Given the description of an element on the screen output the (x, y) to click on. 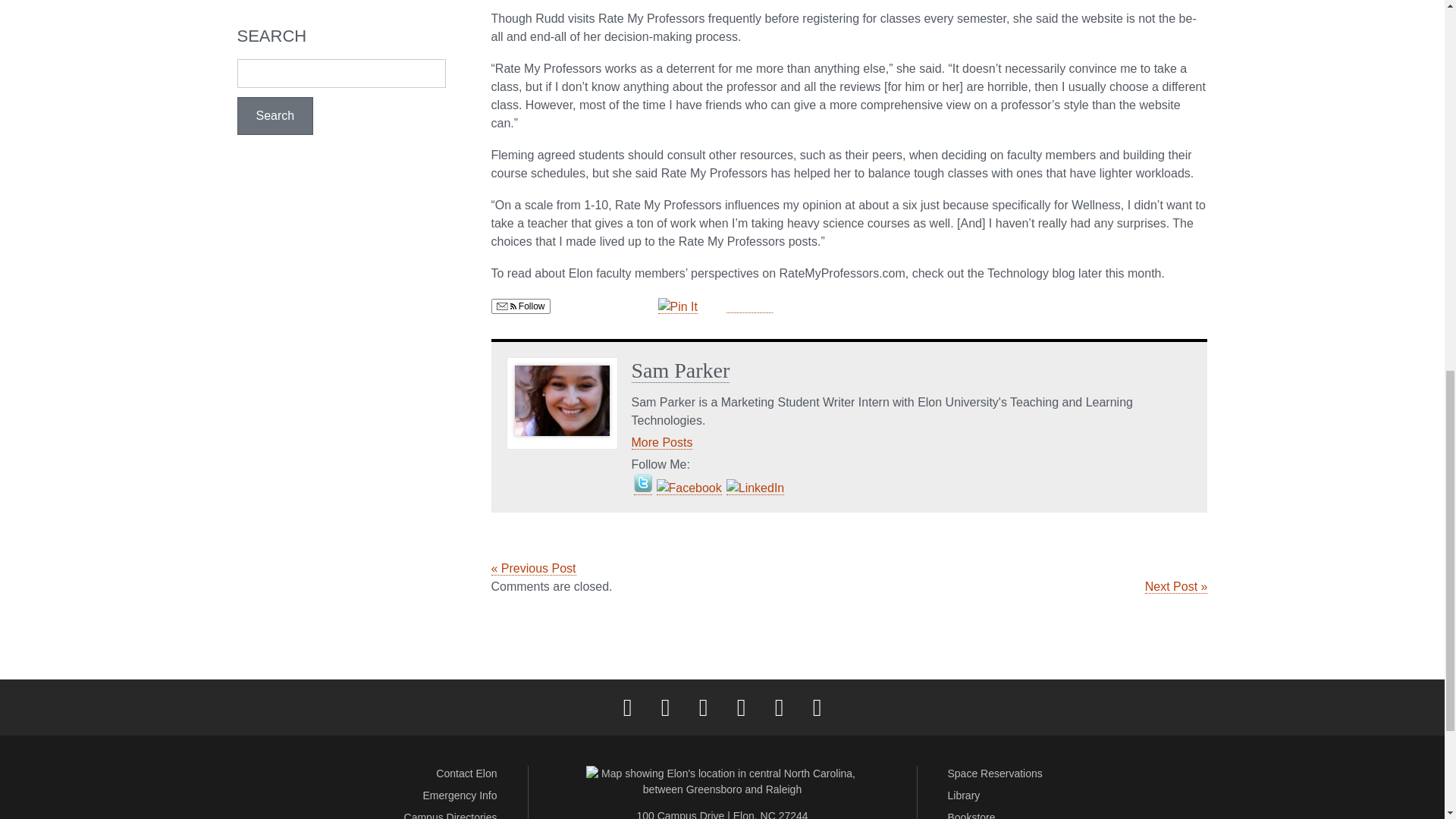
Search (274, 116)
Instagram (703, 707)
Facebook (627, 707)
More Posts (661, 442)
Share on Tumblr (749, 305)
Full Social Media List (816, 707)
Email, RSS (505, 307)
Sam Parker (679, 370)
Follow (521, 305)
Sam Parker (679, 370)
Twitter (665, 707)
LinkedIn (741, 707)
More posts by Sam Parker (661, 442)
Share on Tumblr (749, 305)
YouTube (778, 707)
